Given the description of an element on the screen output the (x, y) to click on. 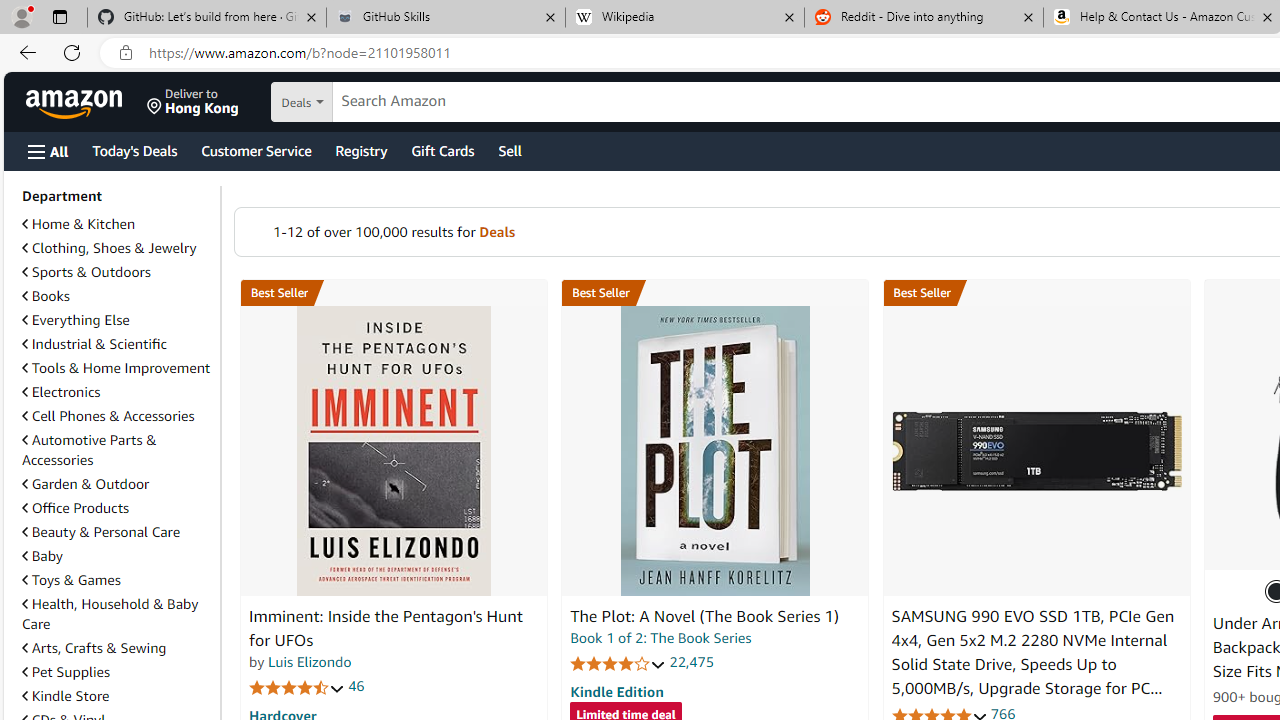
Kindle Edition (616, 691)
Skip to main content (86, 100)
Sports & Outdoors (86, 271)
GitHub Skills (445, 17)
Imminent: Inside the Pentagon's Hunt for UFOs (393, 451)
Cell Phones & Accessories (117, 416)
Search in (371, 102)
Today's Deals (134, 150)
Home & Kitchen (117, 223)
Health, Household & Baby Care (109, 613)
Cell Phones & Accessories (107, 415)
Garden & Outdoor (85, 484)
Wikipedia (684, 17)
